Given the description of an element on the screen output the (x, y) to click on. 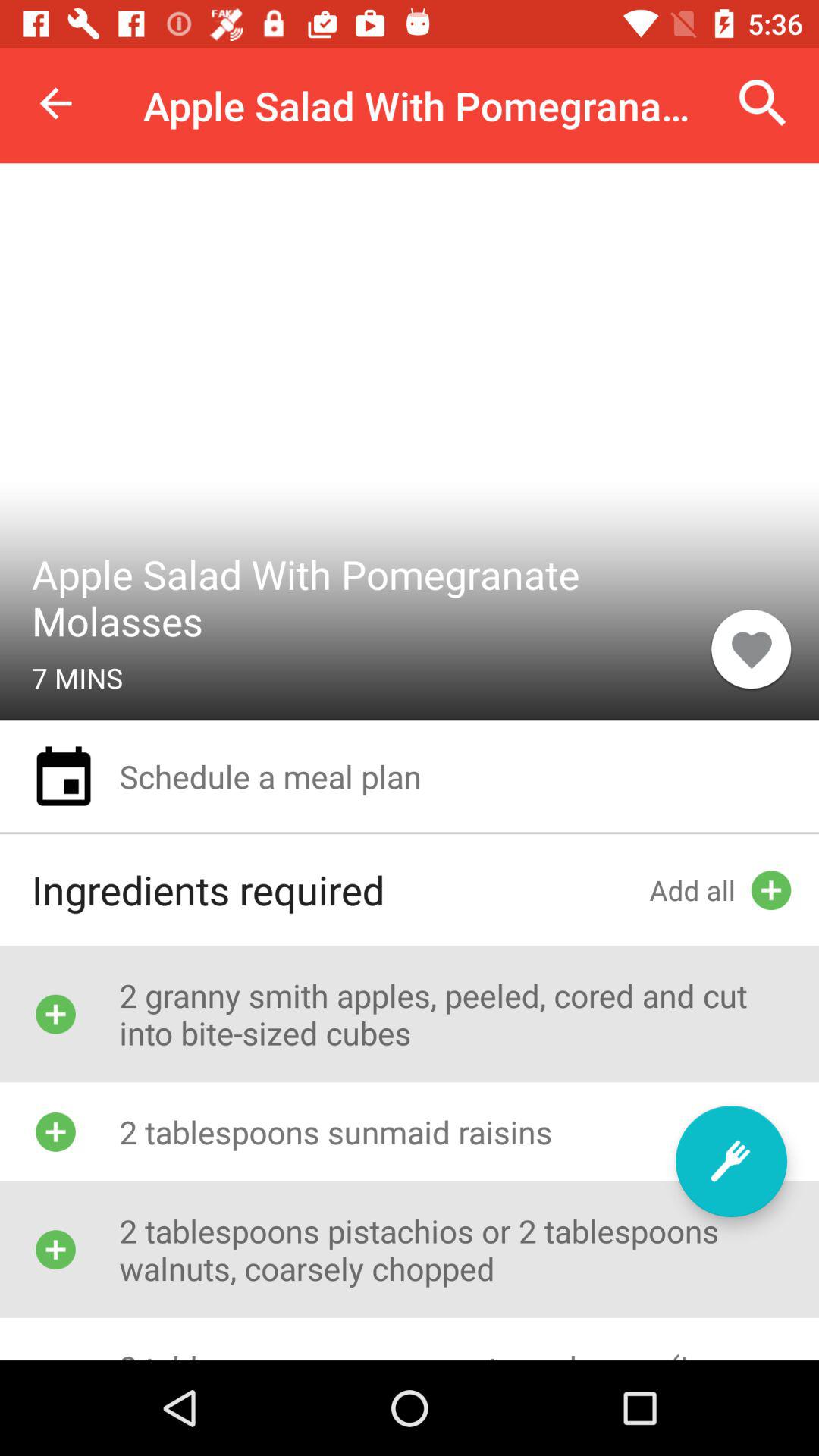
select item at the top left corner (55, 103)
